Given the description of an element on the screen output the (x, y) to click on. 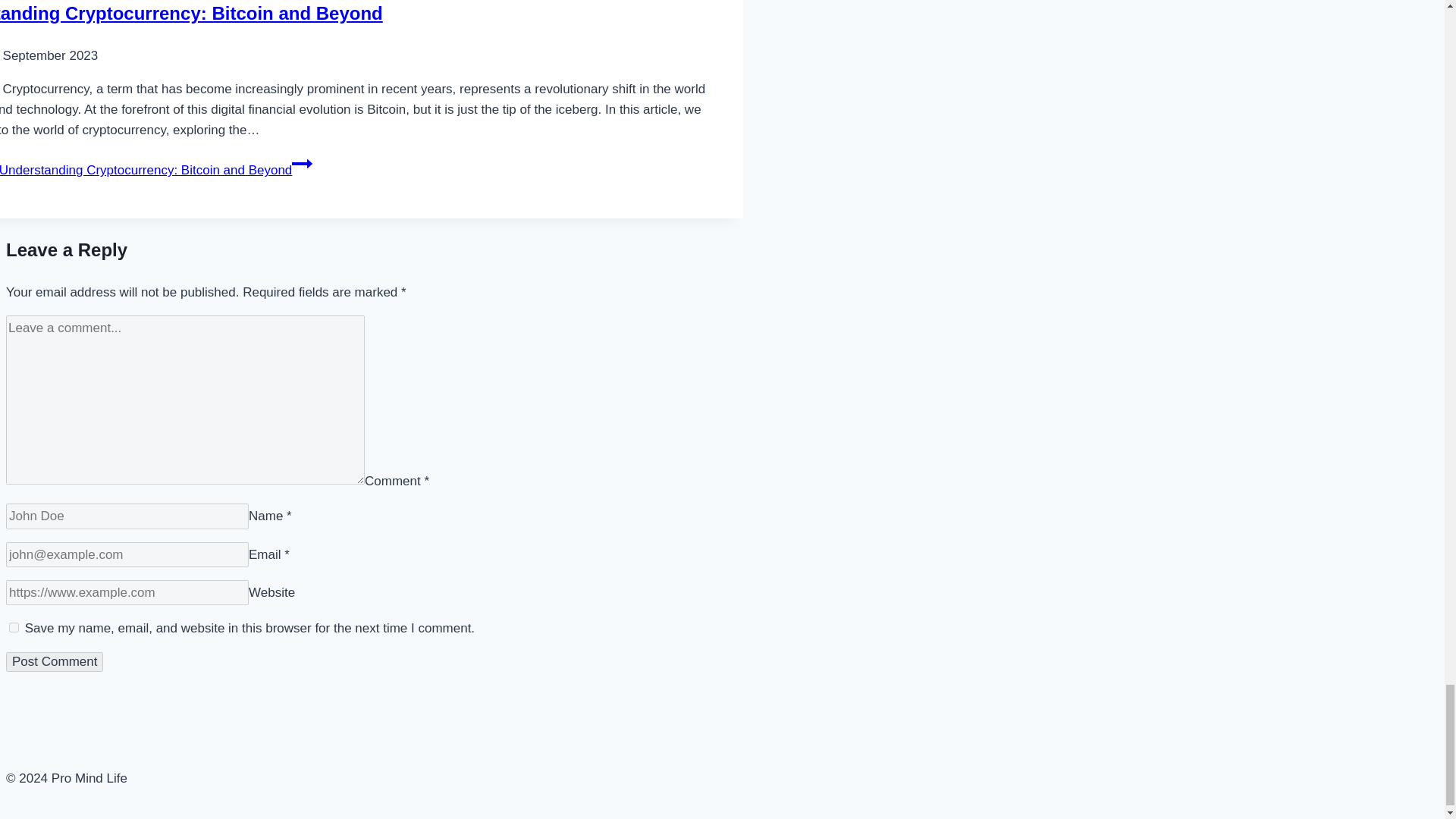
Continue (302, 163)
Post Comment (54, 661)
Understanding Cryptocurrency: Bitcoin and Beyond (191, 13)
yes (13, 627)
Post Comment (54, 661)
